Given the description of an element on the screen output the (x, y) to click on. 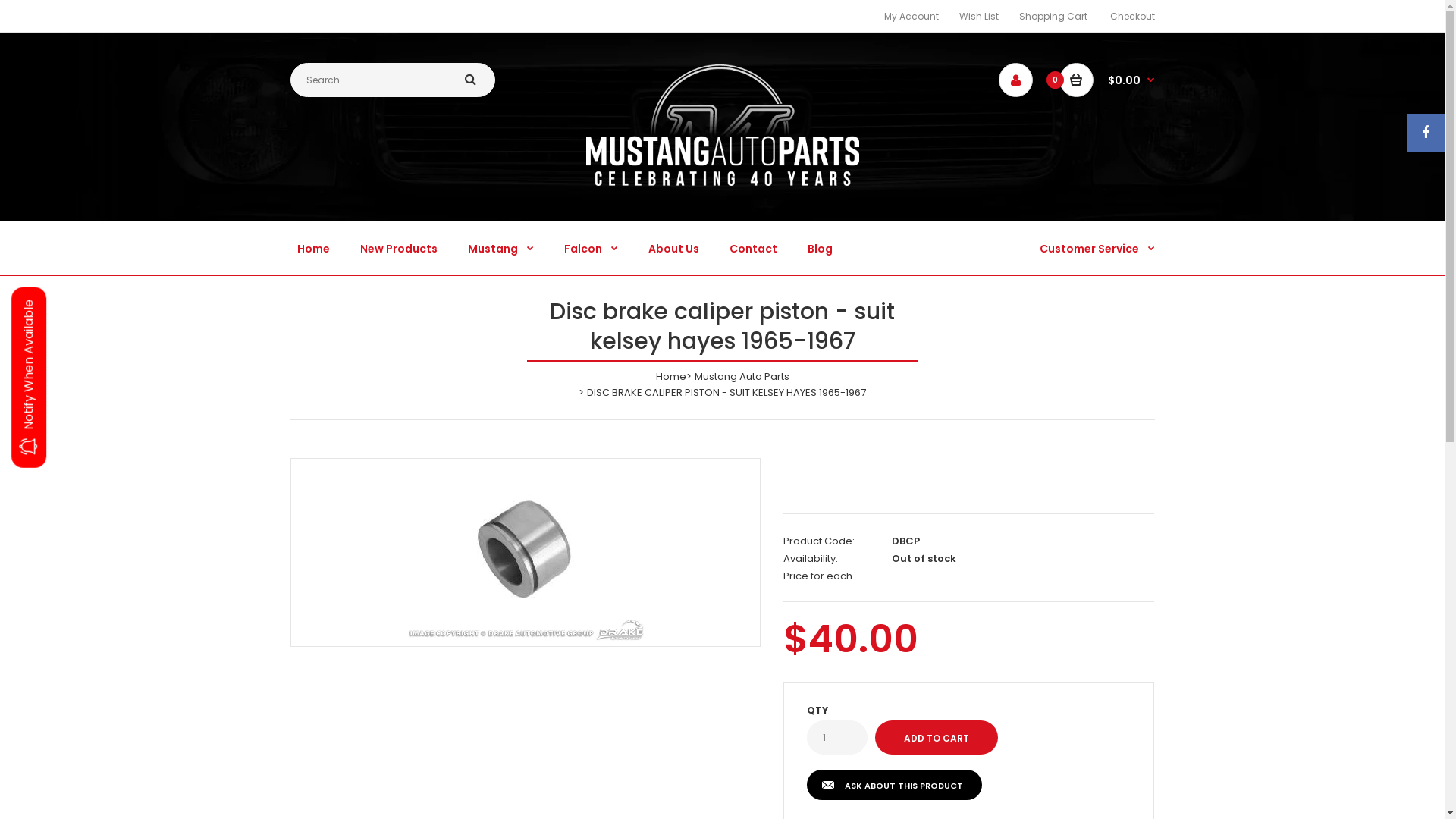
My Account Element type: text (911, 15)
Mustang Auto Parts Australia Element type: hover (721, 124)
Home Element type: text (670, 376)
About Us Element type: text (672, 247)
Customer Service Element type: text (1095, 247)
DISC BRAKE CALIPER PISTON - SUIT KELSEY HAYES 1965-1967 Element type: hover (524, 549)
Blog Element type: text (819, 247)
Contact Element type: text (753, 247)
Mustang Auto Parts Australia Element type: hover (721, 182)
Mustang Element type: text (499, 247)
Mustang Auto Parts Element type: text (741, 376)
Home Element type: text (313, 247)
Falcon Element type: text (590, 247)
ASK ABOUT THIS PRODUCT Element type: text (894, 784)
Wish List Element type: text (977, 15)
0
$0.00 Element type: text (1106, 79)
New Products Element type: text (397, 247)
Shopping Cart Element type: text (1053, 15)
Checkout Element type: text (1132, 15)
